Given the description of an element on the screen output the (x, y) to click on. 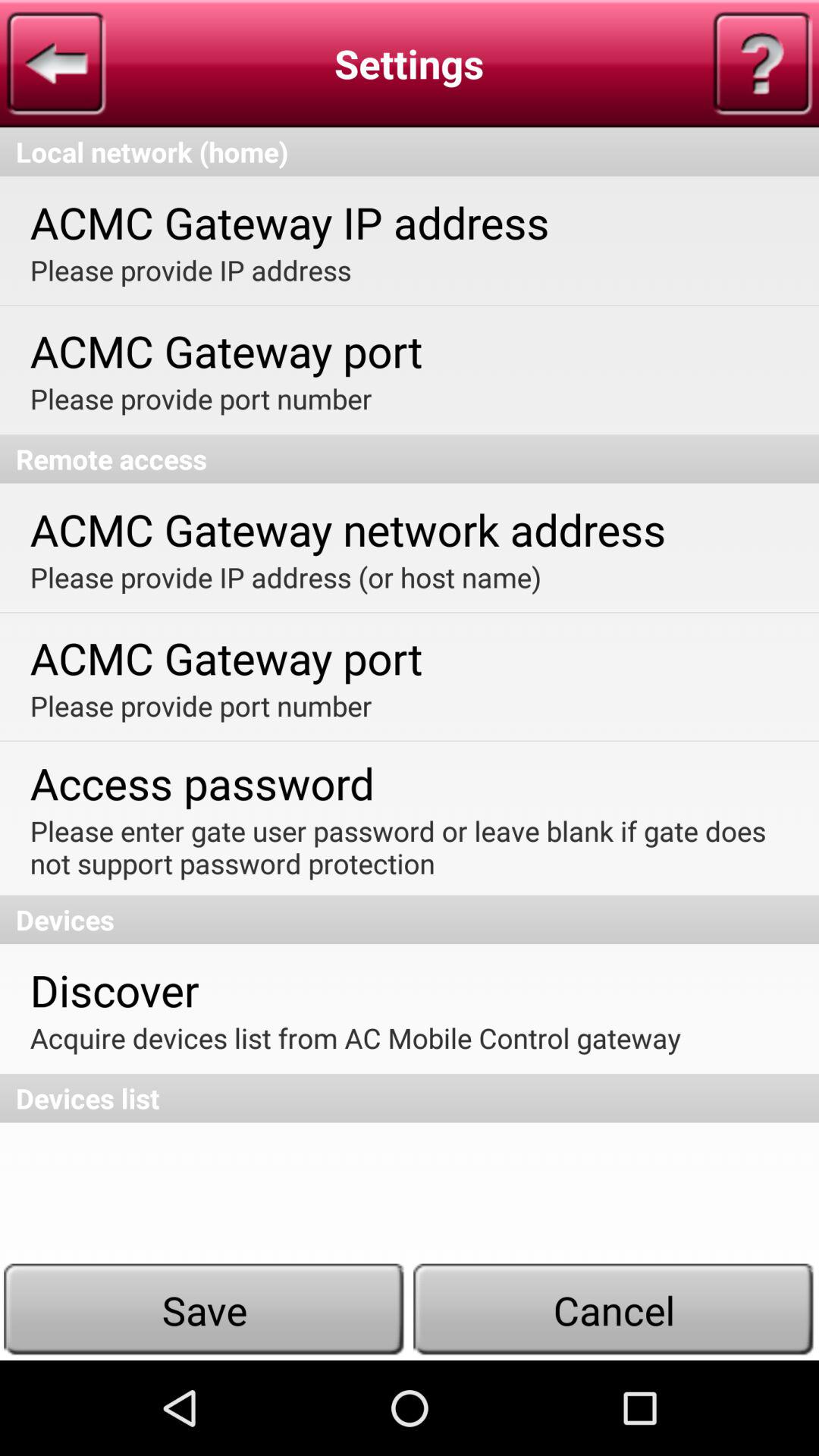
turn off the app below the devices item (114, 989)
